Given the description of an element on the screen output the (x, y) to click on. 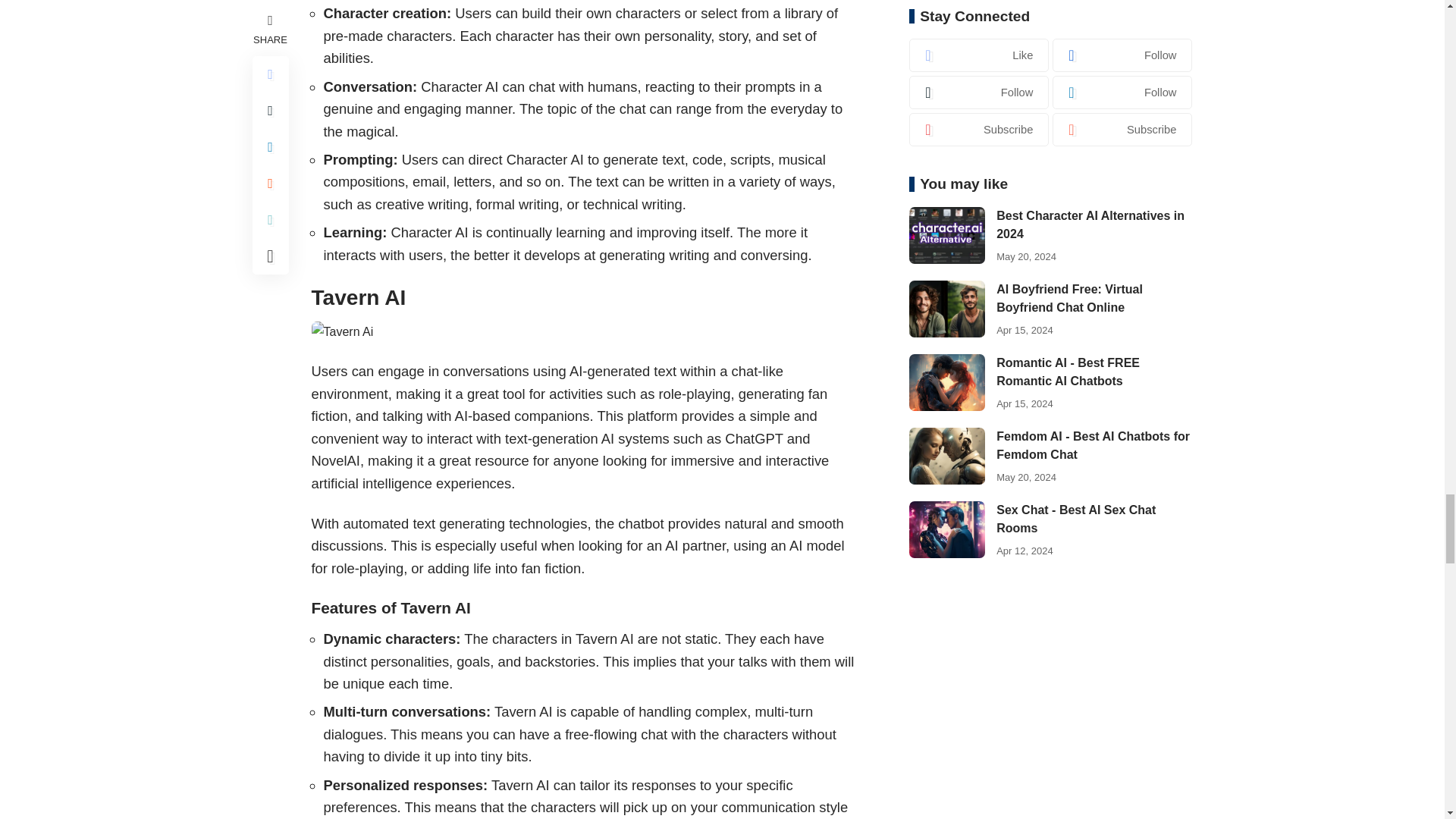
9 Best Janitor Ai Alternatives You Must Try Now (341, 331)
